Given the description of an element on the screen output the (x, y) to click on. 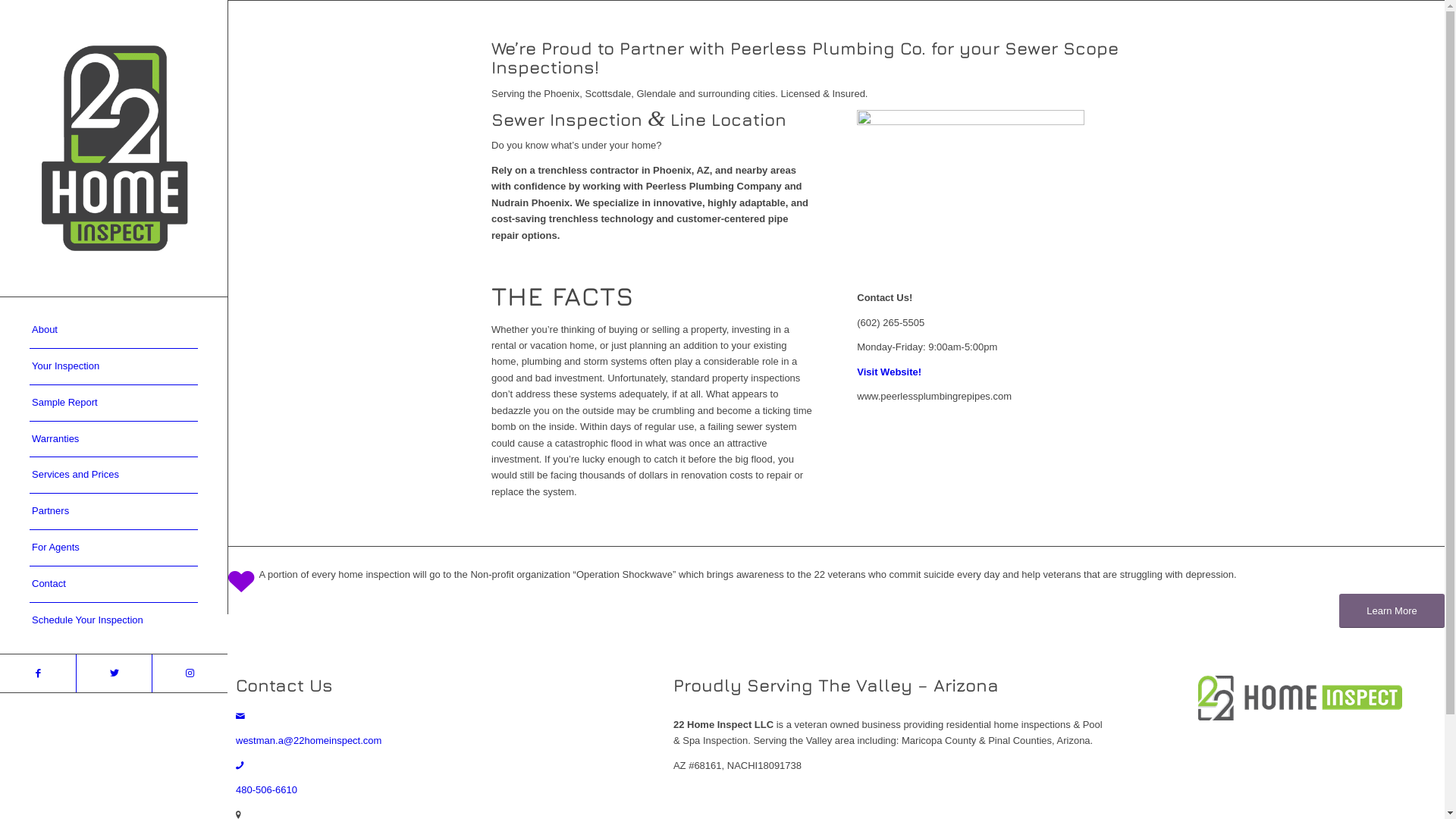
Twitter Element type: hover (113, 673)
Facebook Element type: hover (37, 673)
Partners Element type: text (113, 511)
Schedule Your Inspection Element type: text (113, 620)
480-506-6610 Element type: text (266, 789)
About Element type: text (113, 330)
Sample Report Element type: text (113, 403)
Instagram Element type: hover (189, 673)
new logo Element type: hover (1300, 697)
For Agents Element type: text (113, 548)
westman.a@22homeinspect.com Element type: text (308, 740)
peerless-plumbing-company-nudrain-phoenix-logo Element type: hover (970, 195)
Your Inspection Element type: text (113, 366)
Contact Element type: text (113, 584)
Warranties Element type: text (113, 439)
Services and Prices Element type: text (113, 475)
Visit Website! Element type: text (888, 371)
Learn More Element type: text (1391, 610)
